Given the description of an element on the screen output the (x, y) to click on. 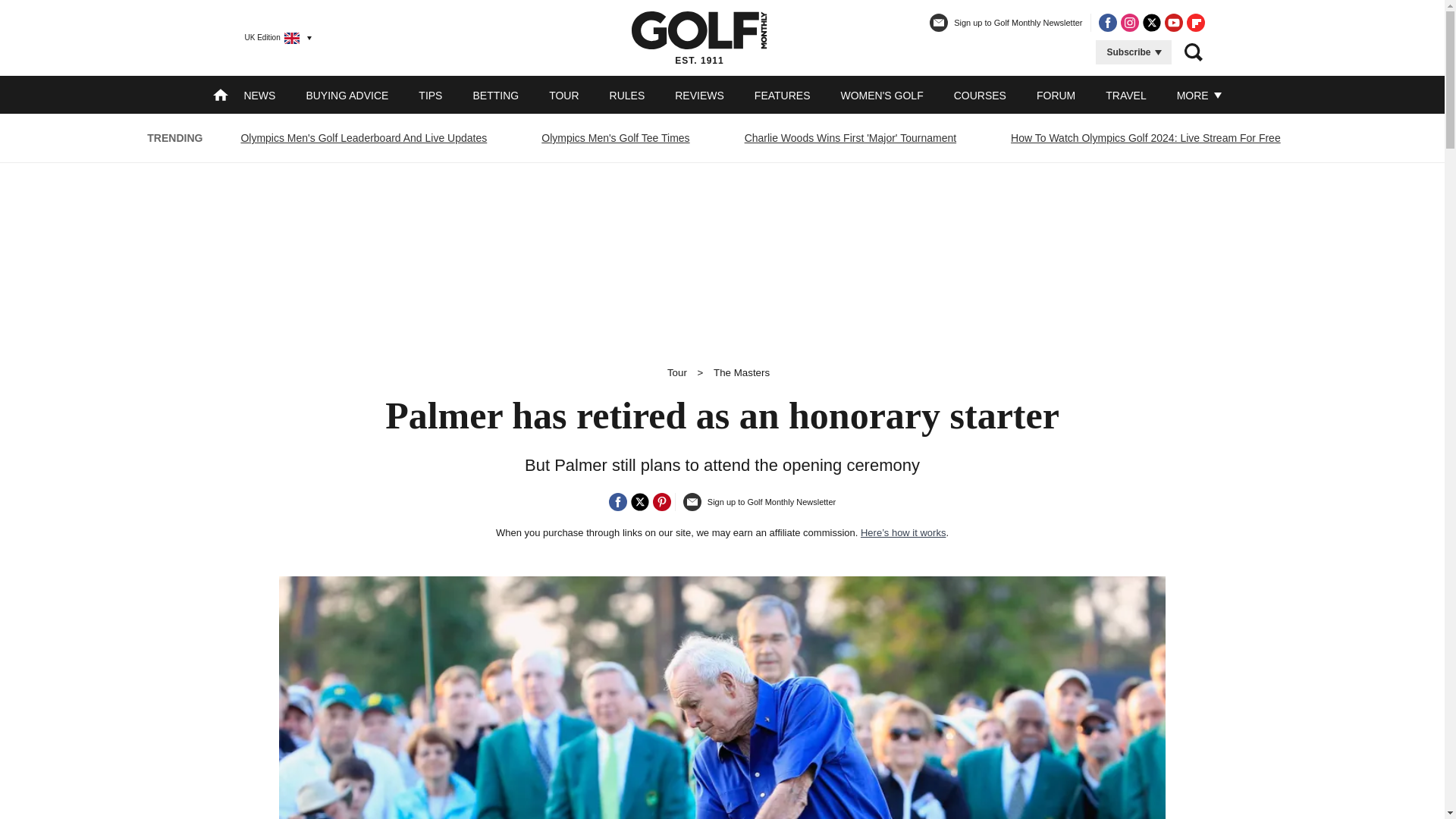
The Masters (741, 372)
EST. 1911 (699, 37)
Olympics Men's Golf Leaderboard And Live Updates (363, 137)
BETTING (494, 95)
UK Edition (271, 37)
BUYING ADVICE (346, 95)
Sign up to Golf Monthly Newsletter (1005, 28)
WOMEN'S GOLF (881, 95)
How To Watch Olympics Golf 2024: Live Stream For Free (1145, 137)
TIPS (430, 95)
TRAVEL (1125, 95)
RULES (627, 95)
Olympics Men's Golf Tee Times (614, 137)
NEWS (259, 95)
Tour (676, 372)
